Given the description of an element on the screen output the (x, y) to click on. 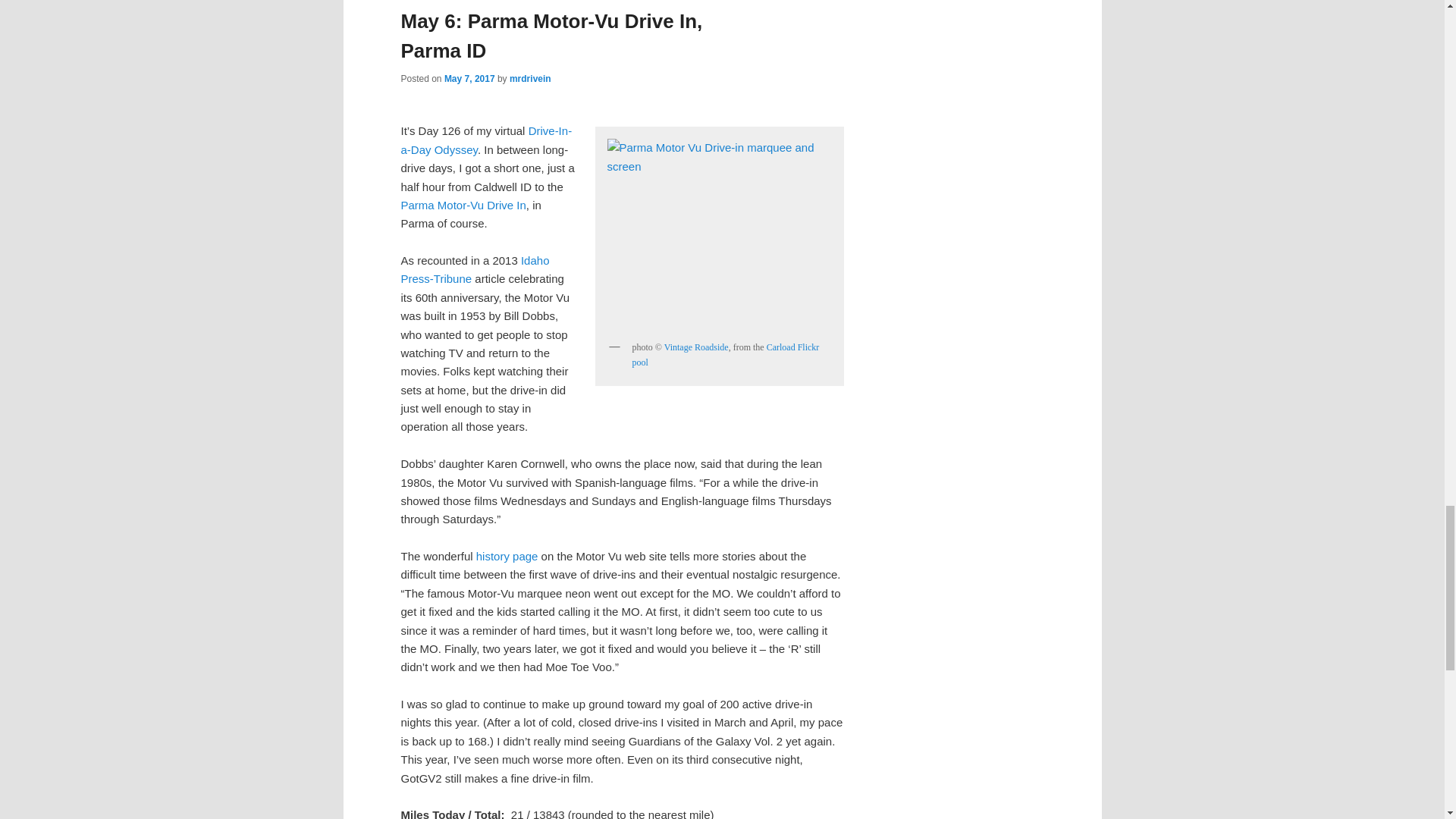
5:40 am (469, 78)
View all posts by mrdrivein (530, 78)
